Given the description of an element on the screen output the (x, y) to click on. 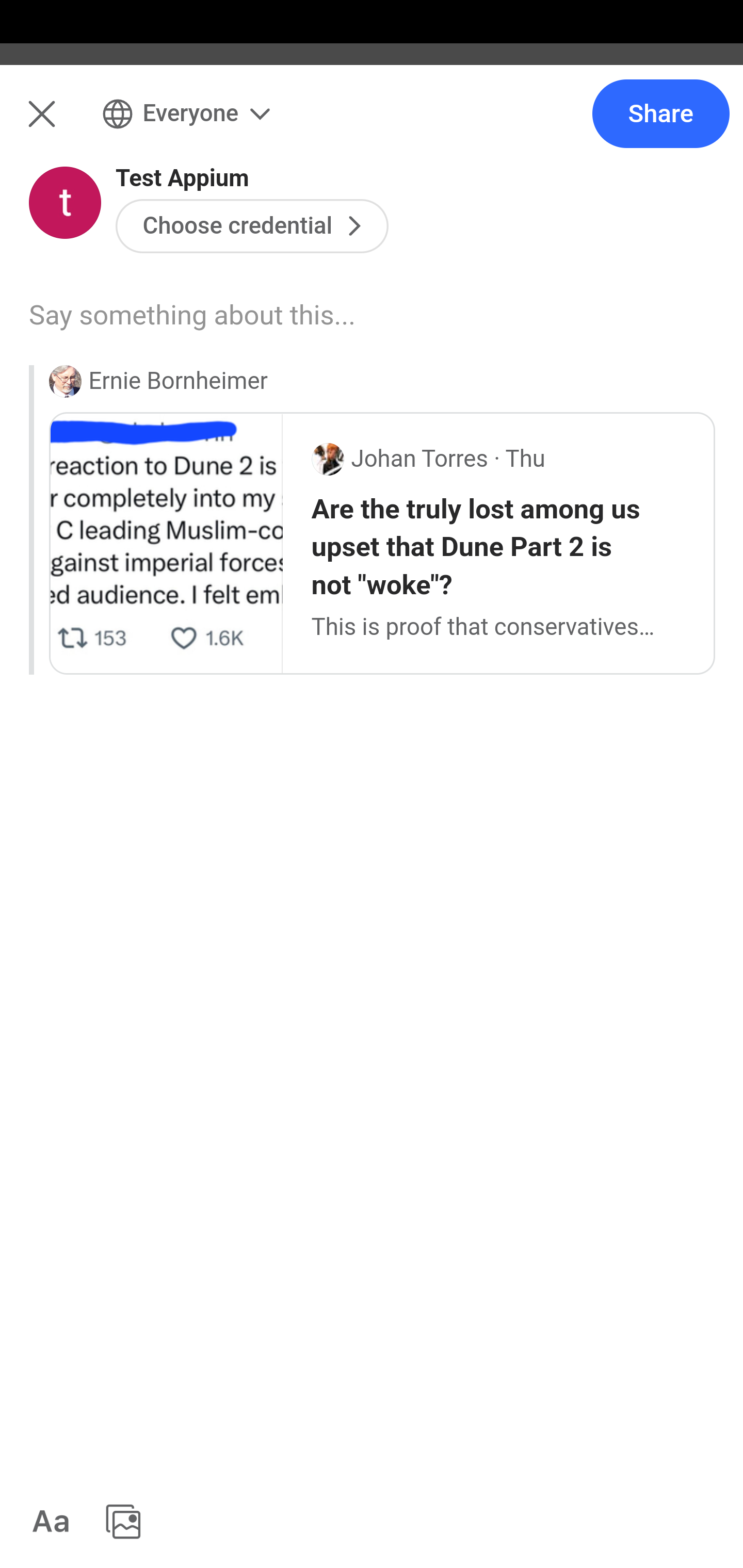
Me Home Search Add (371, 125)
Me (64, 125)
